Given the description of an element on the screen output the (x, y) to click on. 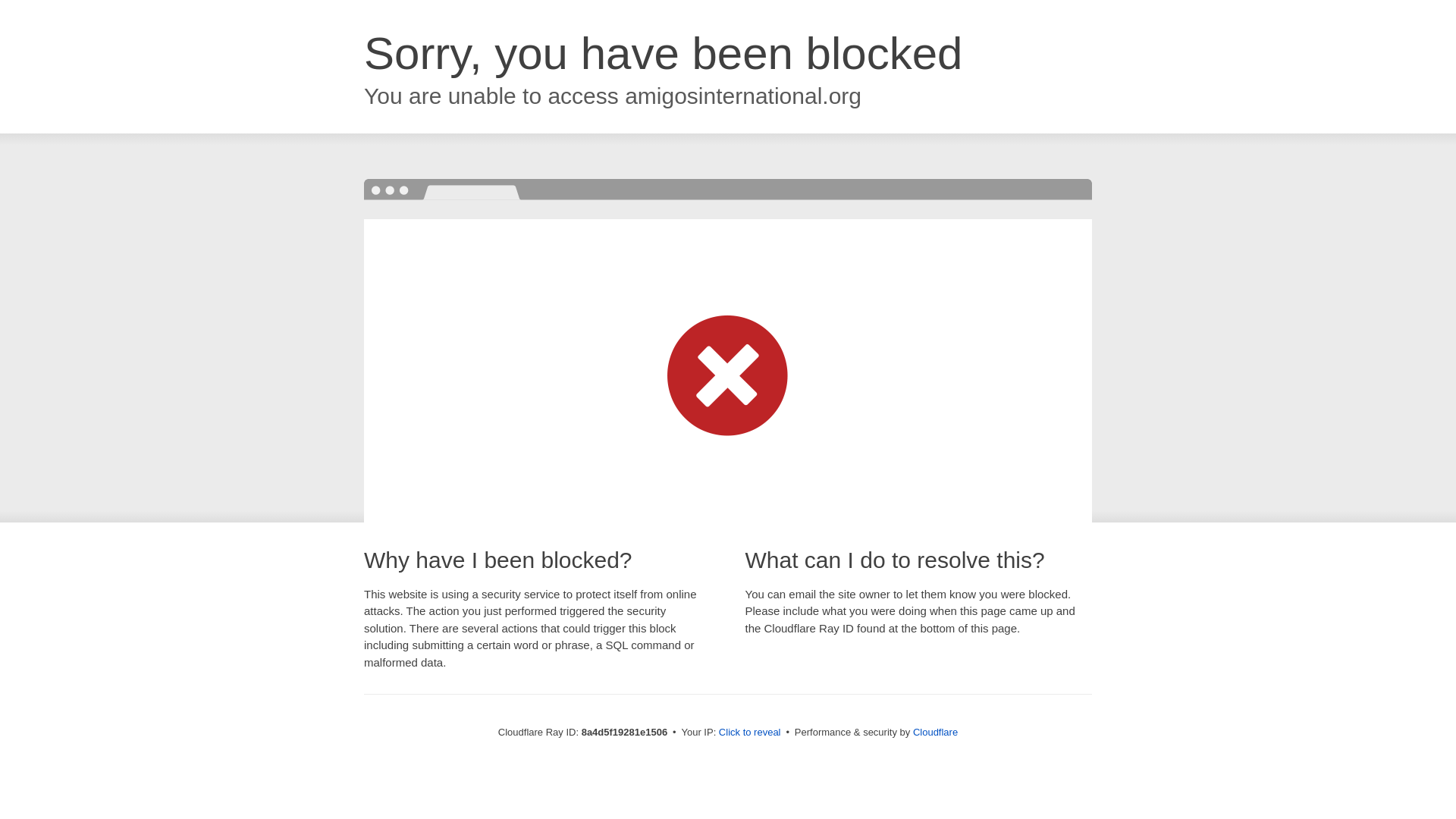
Click to reveal (749, 732)
Cloudflare (935, 731)
